Given the description of an element on the screen output the (x, y) to click on. 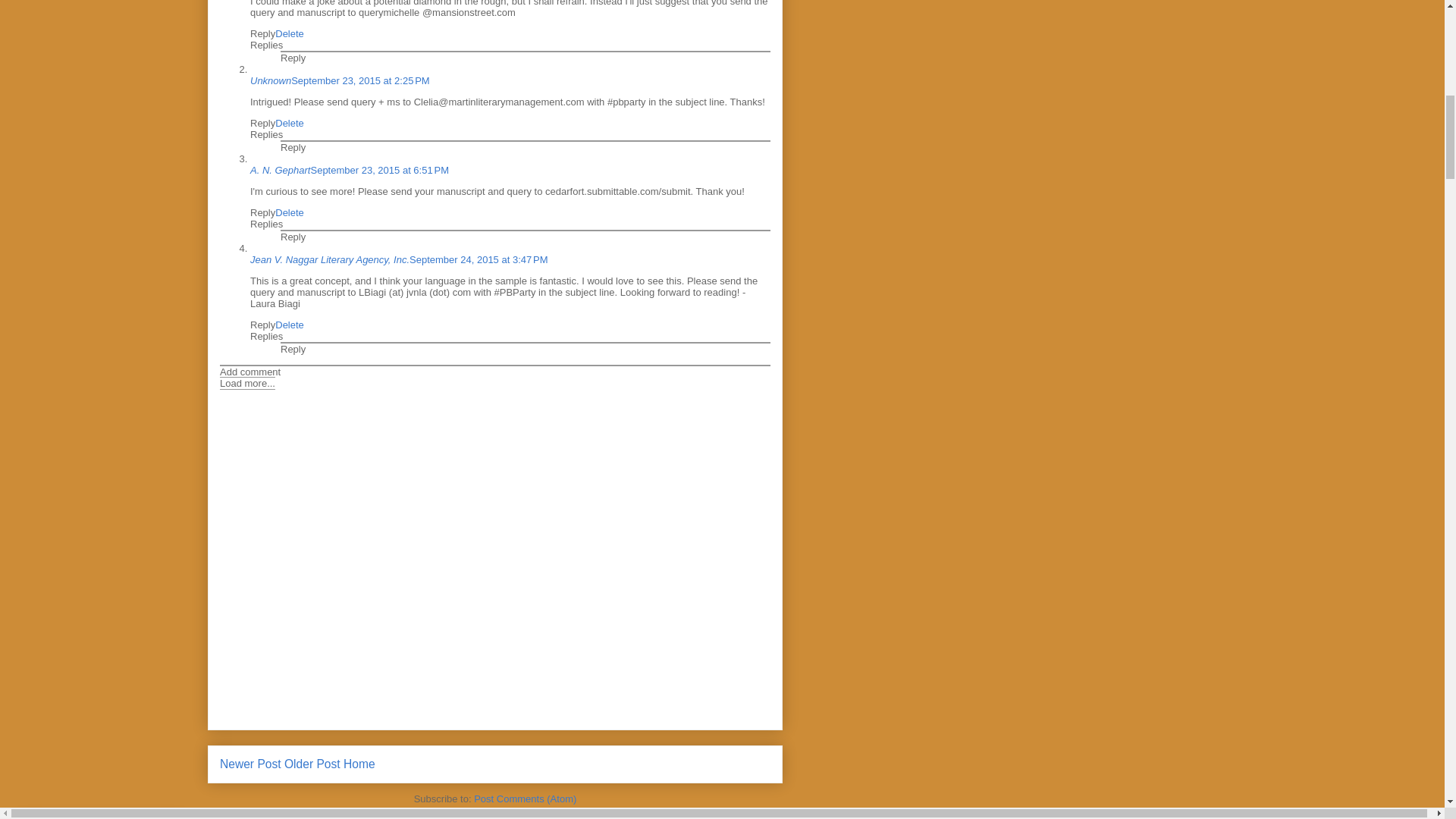
Newer Post (250, 763)
Unknown (270, 80)
Older Post (311, 763)
Reply (293, 236)
A. N. Gephart (280, 170)
Reply (262, 212)
Replies (266, 44)
Jean V. Naggar Literary Agency, Inc. (329, 259)
Reply (262, 33)
Replies (266, 134)
Replies (266, 336)
Reply (293, 348)
Reply (262, 324)
